Given the description of an element on the screen output the (x, y) to click on. 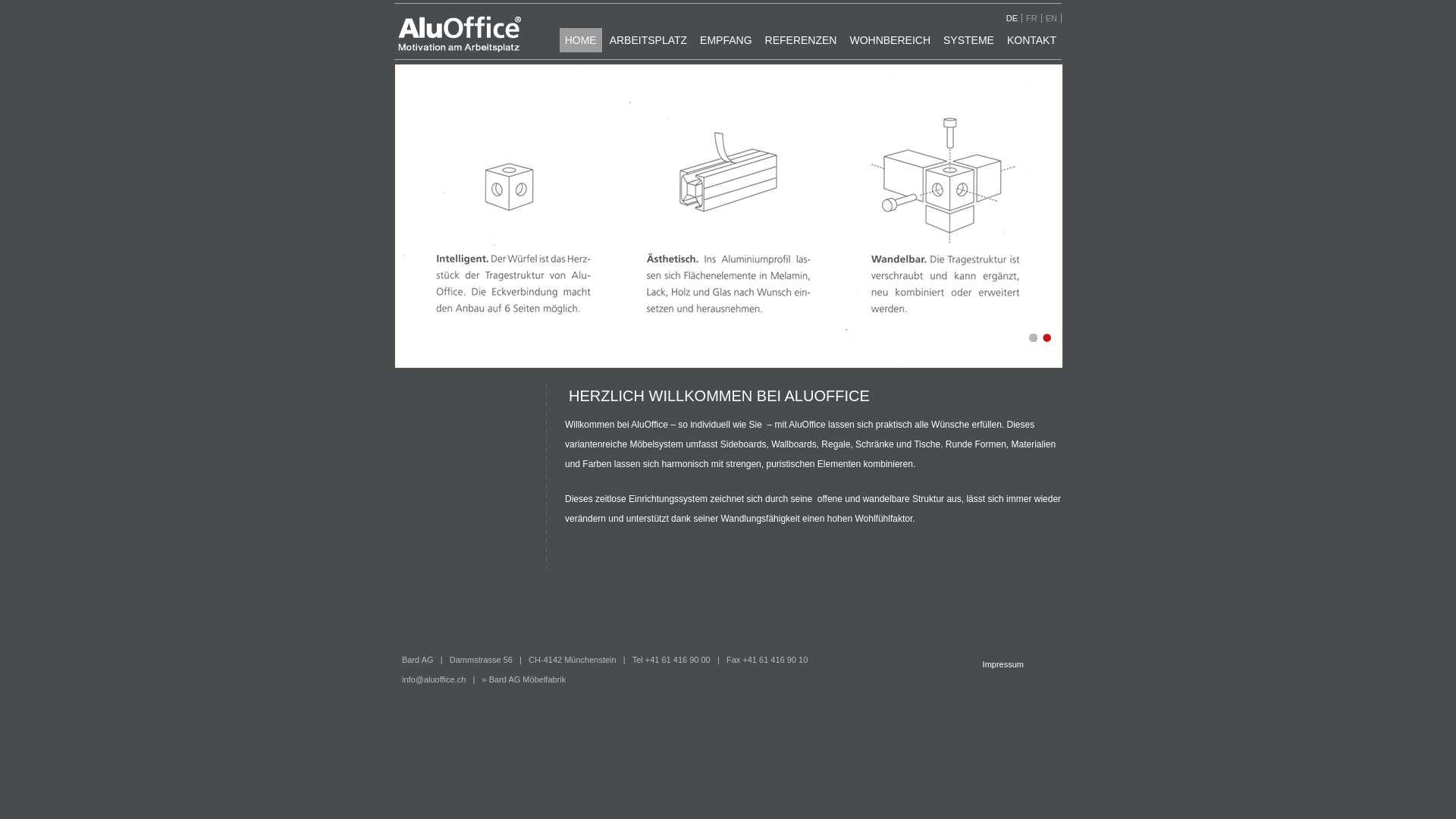
REFERENZEN Element type: text (800, 40)
EMPFANG Element type: text (725, 40)
WOHNBEREICH Element type: text (889, 40)
EN Element type: text (1053, 17)
KONTAKT Element type: text (1031, 40)
FR Element type: text (1033, 17)
2 Element type: text (1044, 337)
info@aluoffice.ch Element type: text (433, 679)
1 Element type: text (1031, 337)
Impressum Element type: text (1002, 663)
SYSTEME Element type: text (968, 40)
HOME Element type: text (580, 40)
DE Element type: text (1014, 17)
ARBEITSPLATZ Element type: text (648, 40)
